Given the description of an element on the screen output the (x, y) to click on. 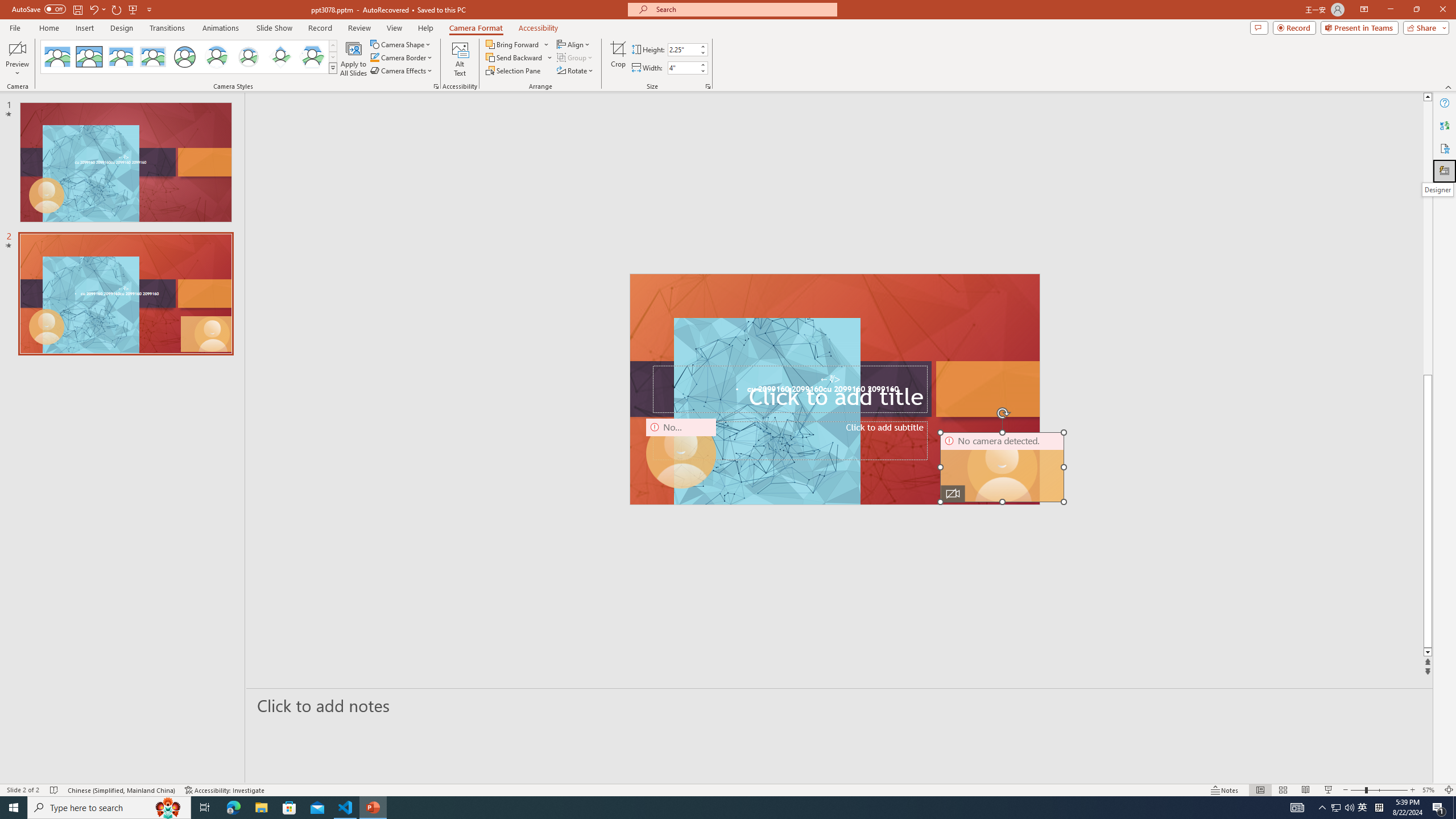
AutomationID: CameoStylesGallery (189, 56)
Camera Styles (333, 67)
No Style (57, 56)
Subtitle TextBox (789, 440)
Cameo Height (682, 49)
